Given the description of an element on the screen output the (x, y) to click on. 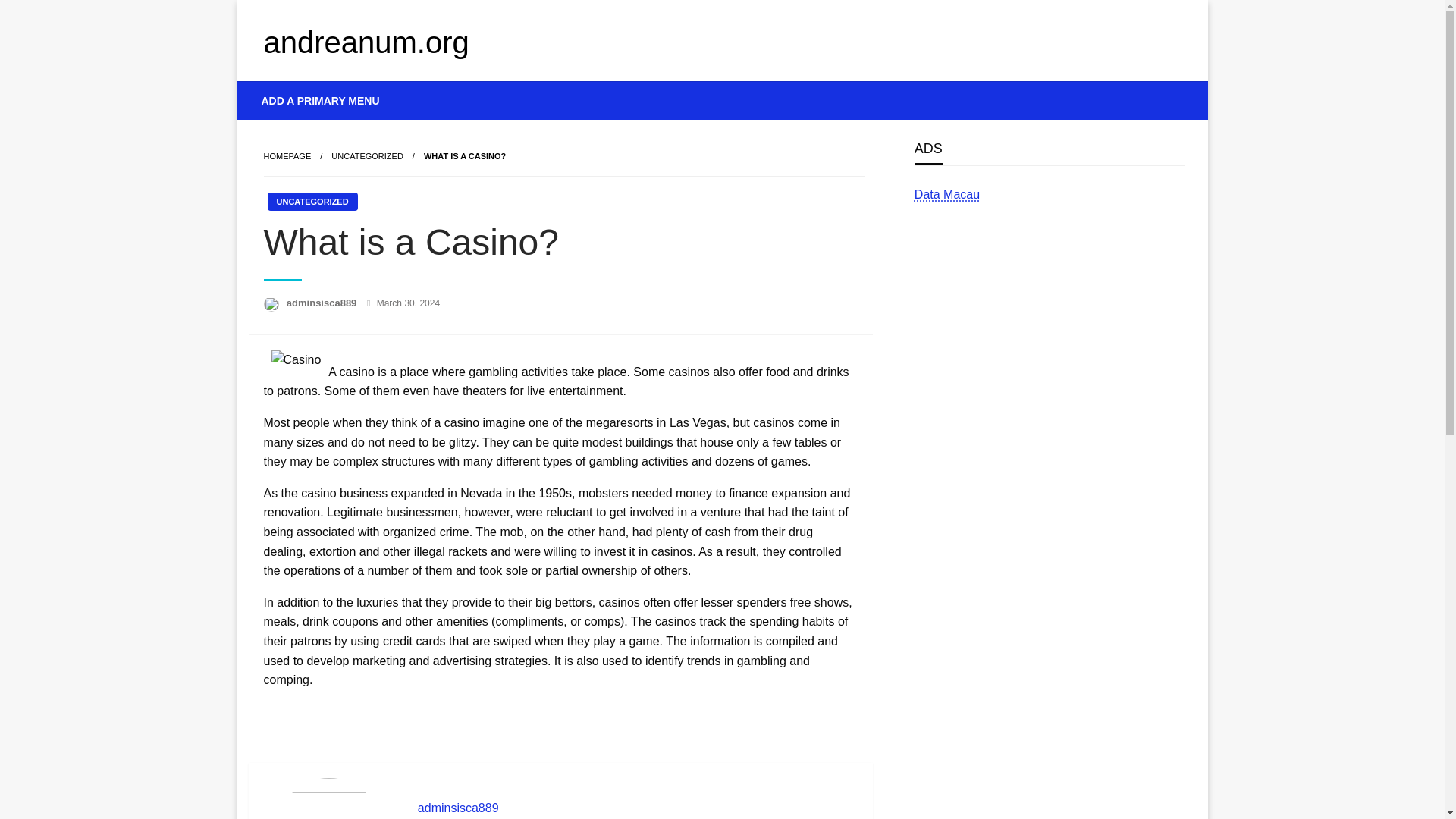
Uncategorized (367, 155)
adminsisca889 (637, 807)
adminsisca889 (322, 302)
UNCATEGORIZED (311, 201)
Homepage (287, 155)
March 30, 2024 (408, 303)
HOMEPAGE (287, 155)
andreanum.org (365, 41)
adminsisca889 (637, 807)
ADD A PRIMARY MENU (320, 100)
